Given the description of an element on the screen output the (x, y) to click on. 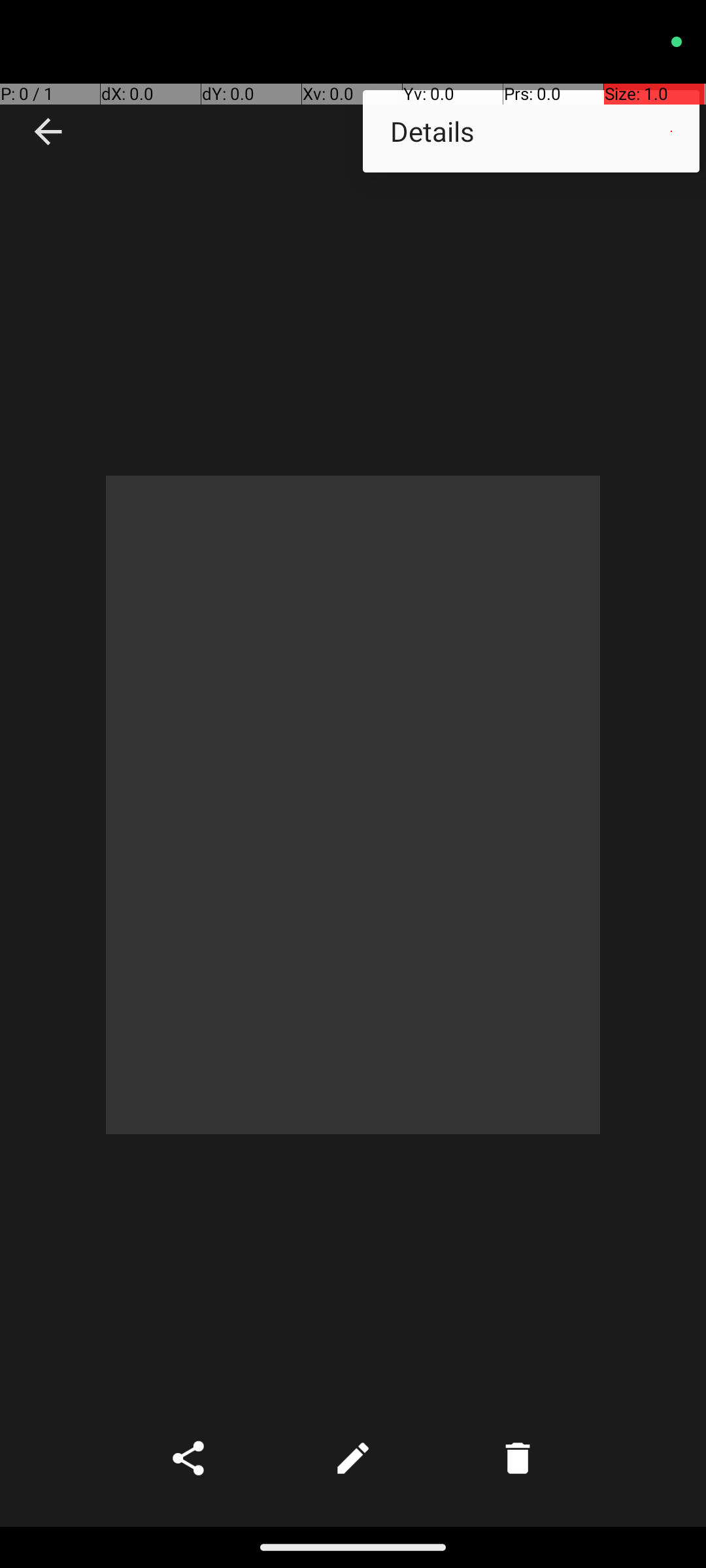
Details Element type: android.widget.TextView (531, 130)
